Given the description of an element on the screen output the (x, y) to click on. 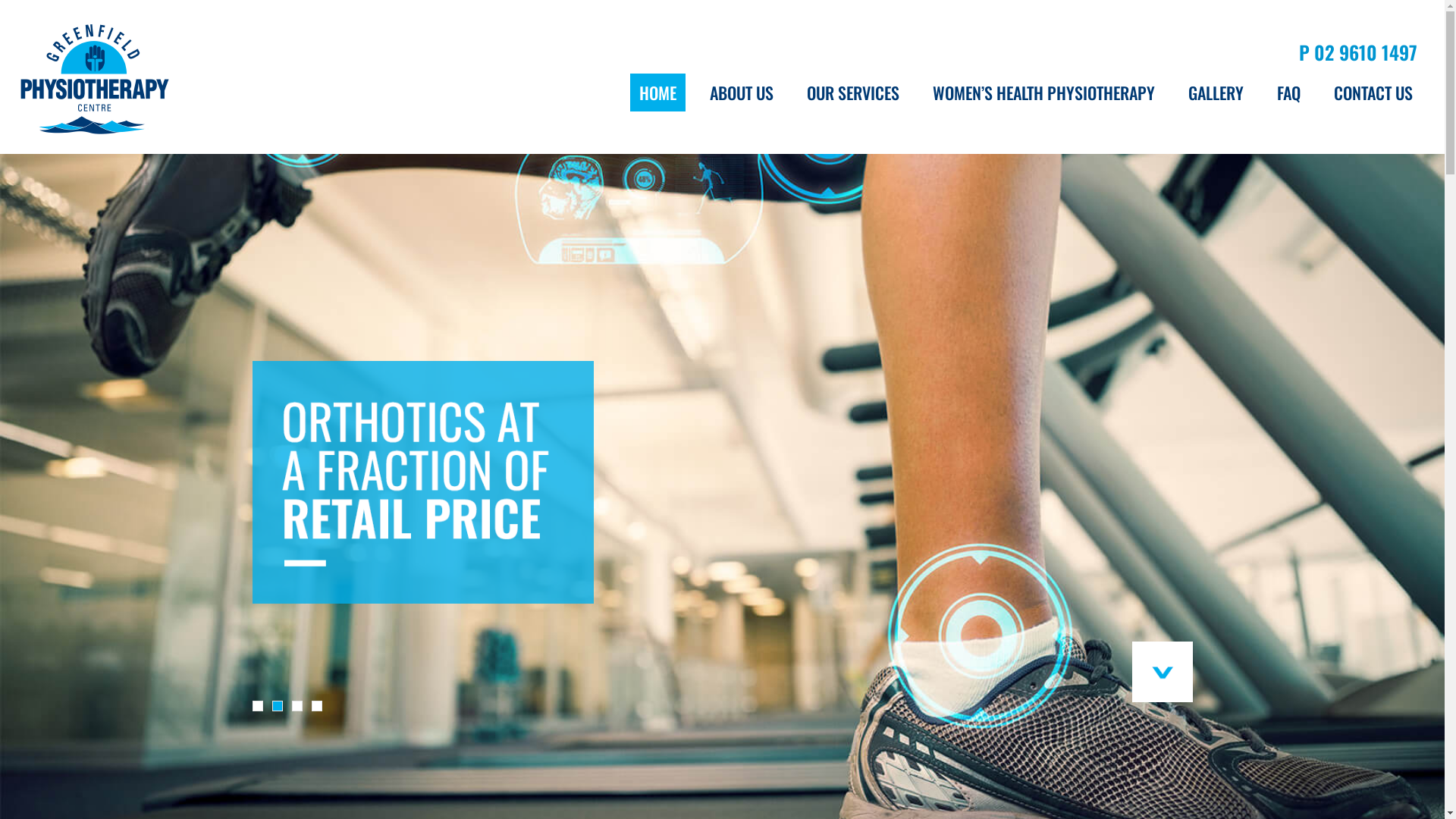
OUR SERVICES Element type: text (852, 92)
ABOUT US Element type: text (741, 92)
Greenfield Physiotherapy Centre Element type: hover (94, 78)
GALLERY Element type: text (1215, 92)
FAQ Element type: text (1288, 92)
HOME Element type: text (657, 92)
P 02 9610 1497 Element type: text (1358, 51)
CONTACT US Element type: text (1372, 92)
